Given the description of an element on the screen output the (x, y) to click on. 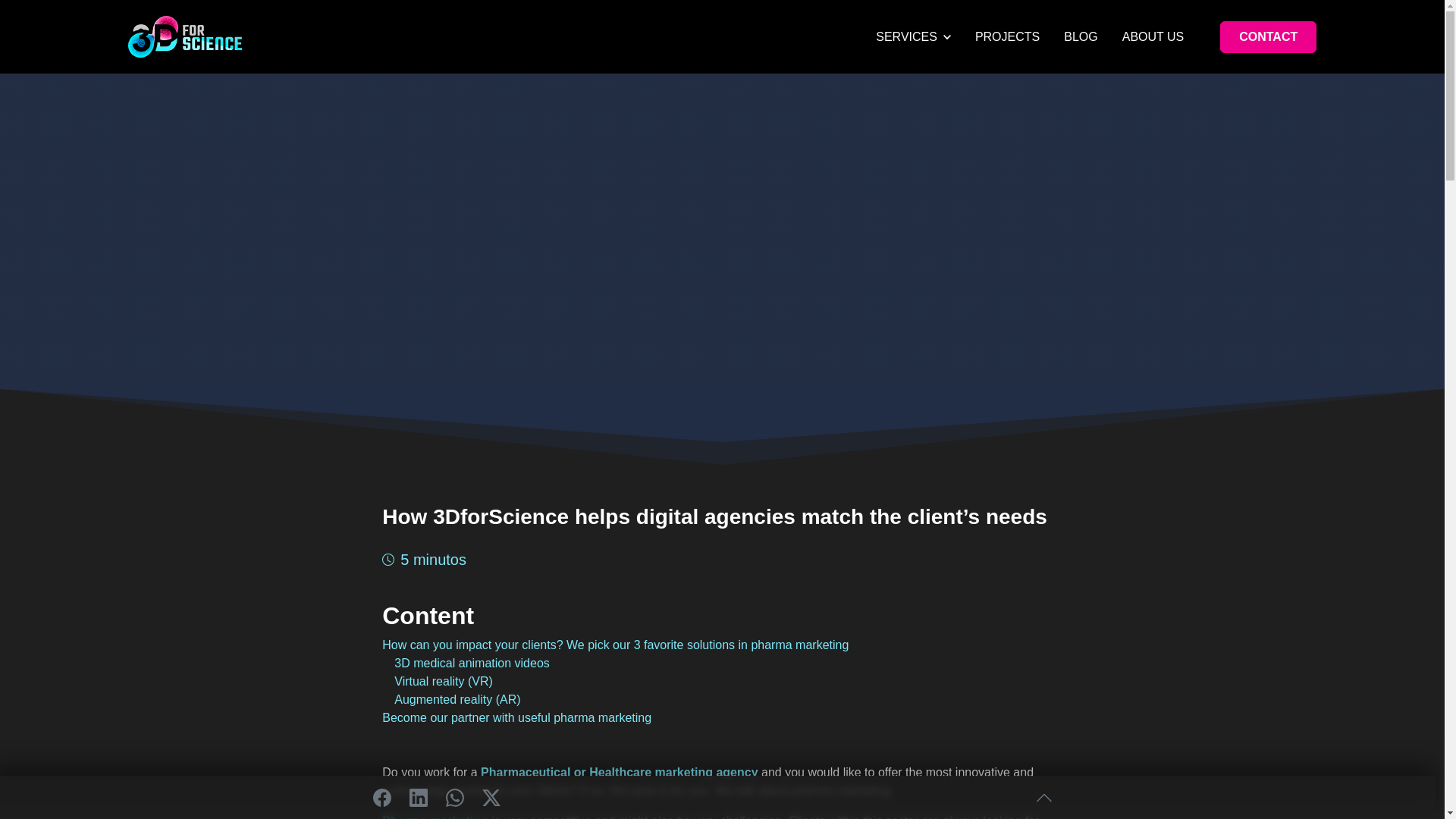
Contact (1268, 37)
About Us (1153, 36)
Projects (1007, 36)
PROJECTS (1007, 36)
Blog (1080, 36)
ABOUT US (1153, 36)
SERVICES (913, 36)
3D medical animation videos (472, 662)
CONTACT (1268, 37)
